Given the description of an element on the screen output the (x, y) to click on. 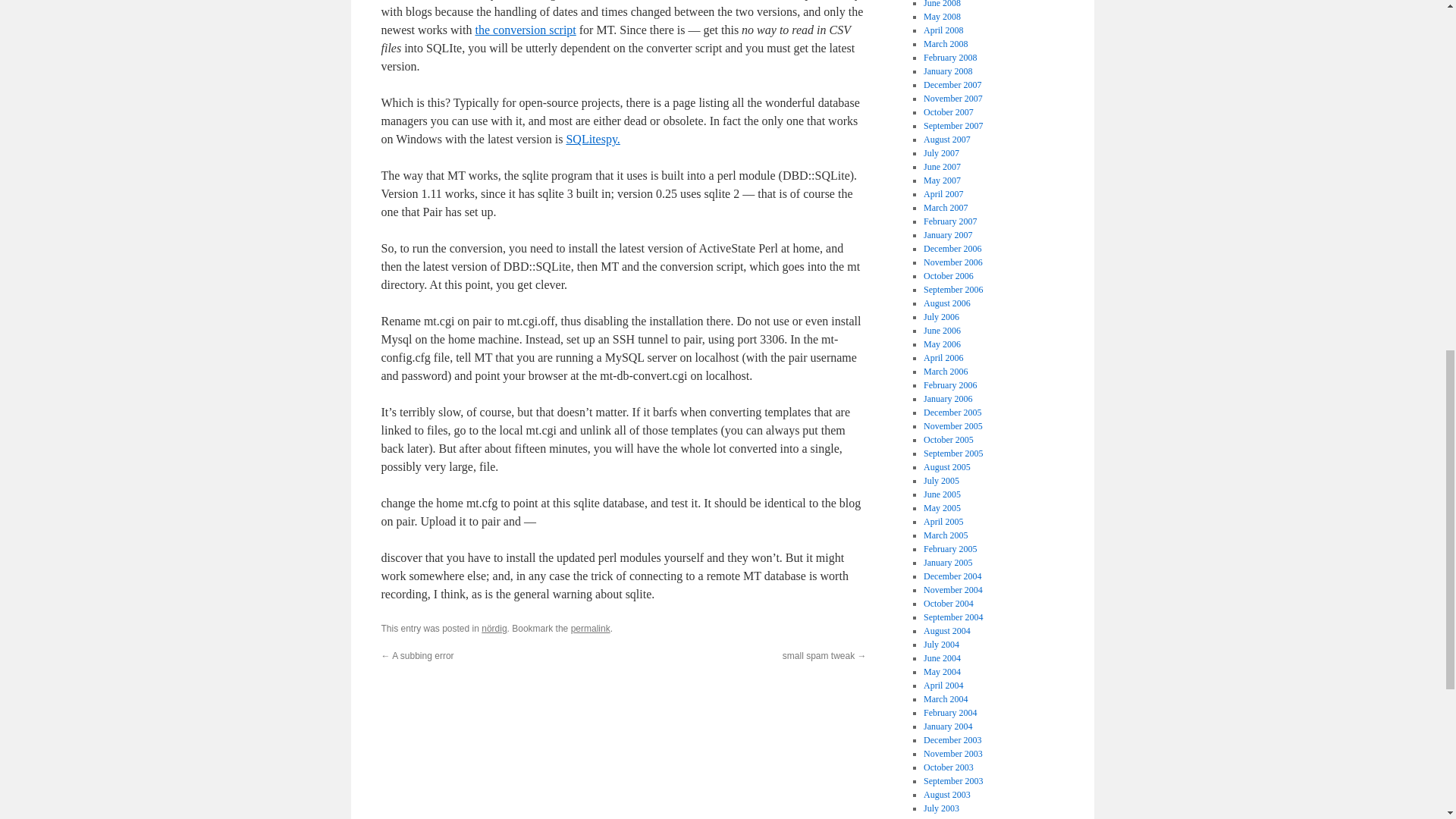
Permalink to Final note on SQlite and MT (590, 628)
permalink (590, 628)
the conversion script (524, 29)
SQLitespy. (593, 138)
